Given the description of an element on the screen output the (x, y) to click on. 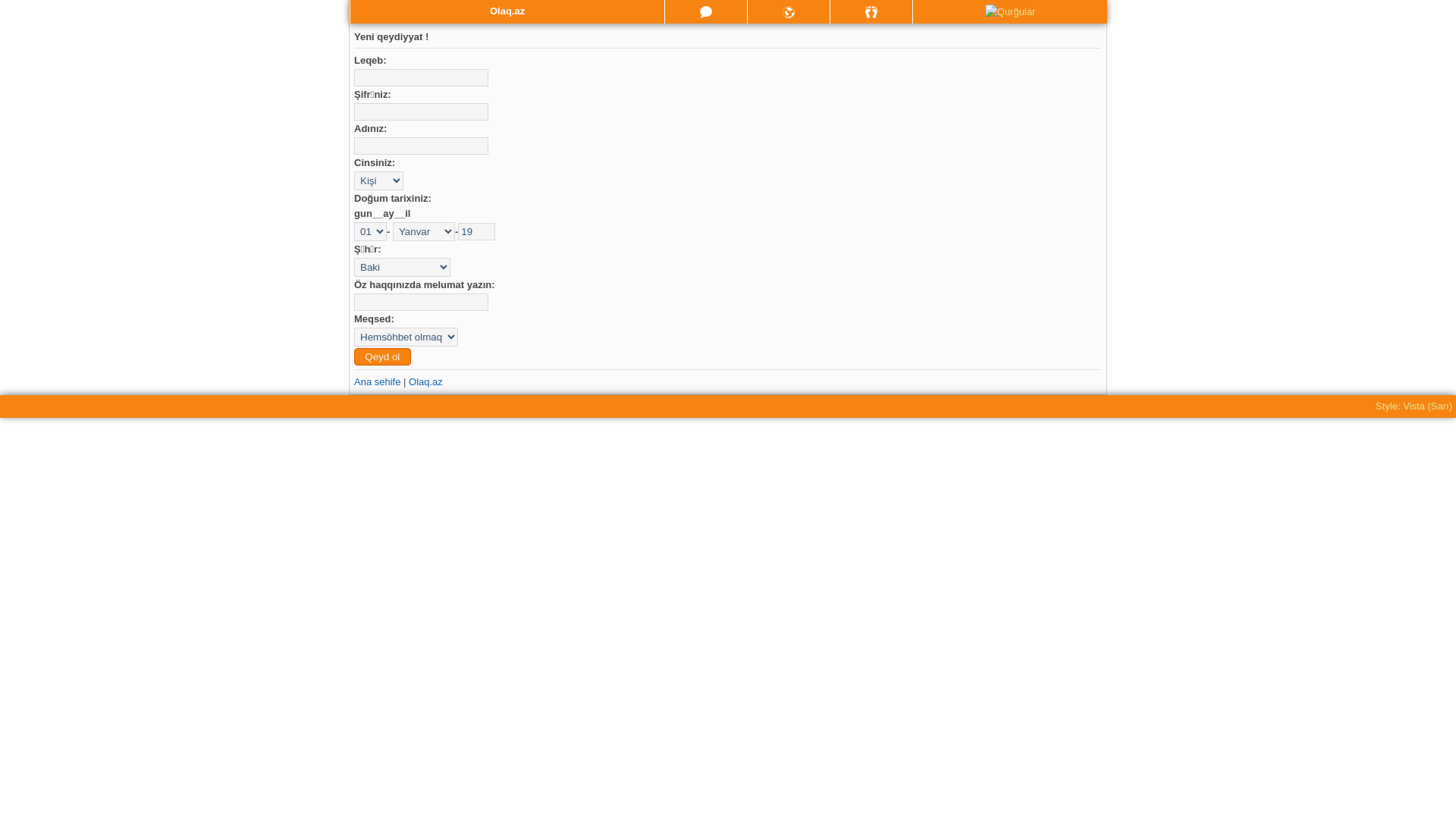
Olaq.az Element type: text (425, 381)
Qeyd ol Element type: text (382, 356)
Qonaqlar Element type: hover (871, 11)
Mektublar Element type: hover (788, 11)
Ana sehife Element type: text (377, 381)
Qonaqlar Element type: hover (871, 12)
Leqebiniz (Nick) Element type: hover (421, 77)
Mesajlar Element type: hover (705, 12)
Mektublar Element type: hover (788, 12)
Mesajlar Element type: hover (705, 11)
